Given the description of an element on the screen output the (x, y) to click on. 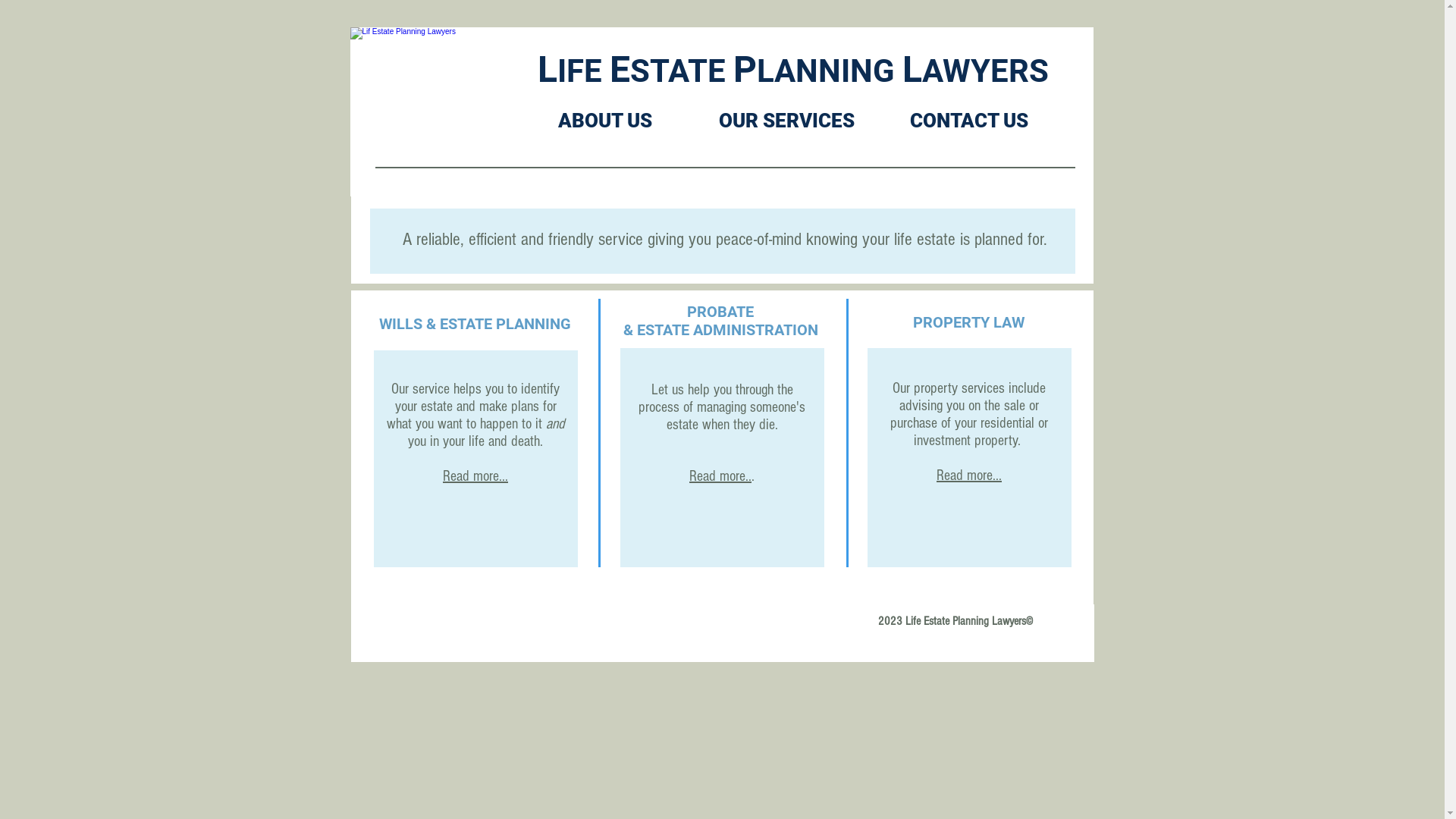
L Element type: text (546, 68)
STATE Element type: text (680, 70)
Read more.. Element type: text (720, 475)
IFE Element type: text (582, 70)
AWYERS Element type: text (985, 70)
ABOUT US Element type: text (605, 114)
Read more... Element type: text (968, 474)
E Element type: text (619, 68)
CONTACT US Element type: text (969, 114)
P Element type: text (744, 68)
L Element type: text (912, 68)
Read more... Element type: text (475, 475)
LANNING Element type: text (829, 70)
